Given the description of an element on the screen output the (x, y) to click on. 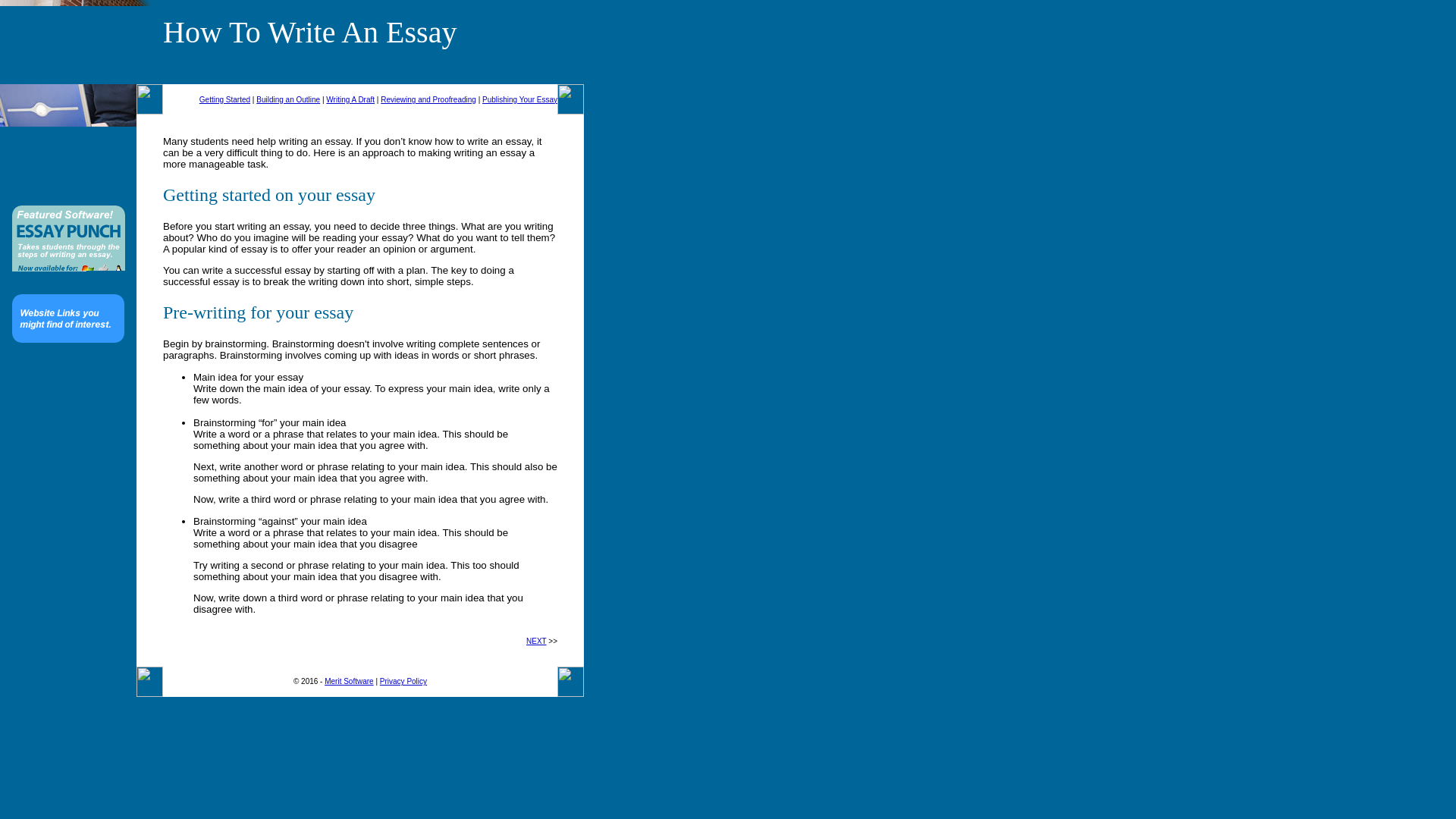
Merit Software (348, 681)
NEXT (536, 641)
Publishing Your Essay (519, 99)
Building an Outline (288, 99)
Writing A Draft (350, 99)
Reviewing and Proofreading (428, 99)
Privacy Policy (403, 681)
Getting Started (224, 99)
